Given the description of an element on the screen output the (x, y) to click on. 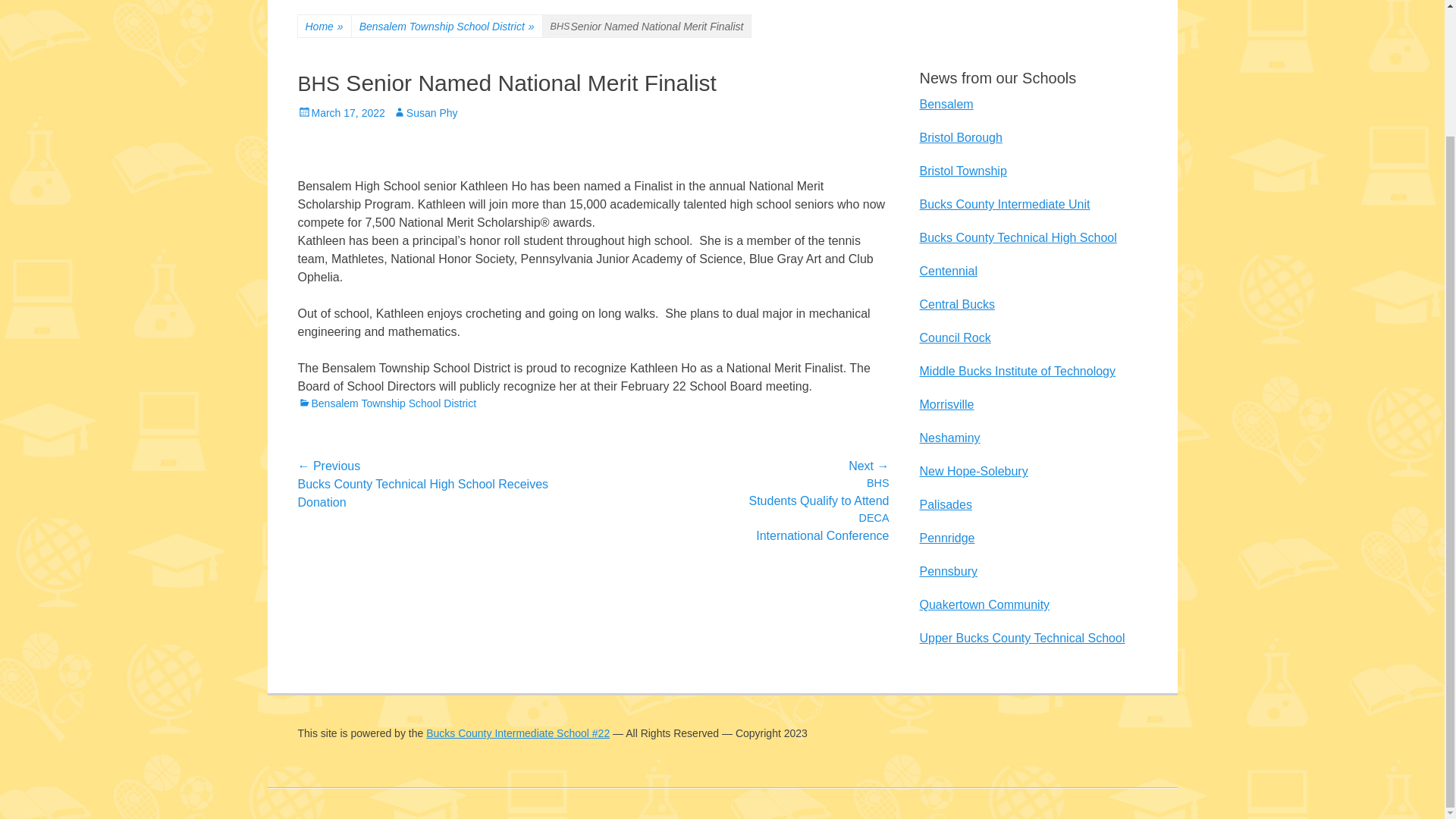
Morrisville (946, 404)
New Hope-Solebury (972, 471)
Pennsbury (947, 571)
Bristol Borough (959, 137)
Bensalem (945, 103)
Central Bucks (956, 304)
Upper Bucks County Technical School (1021, 637)
Council Rock (954, 337)
Neshaminy (948, 437)
Bucks County Intermediate Unit (1003, 204)
Palisades (944, 504)
Bensalem Township School District (386, 403)
Bristol Township (962, 170)
Susan Phy (425, 112)
Bucks County Technical High School (1017, 237)
